Given the description of an element on the screen output the (x, y) to click on. 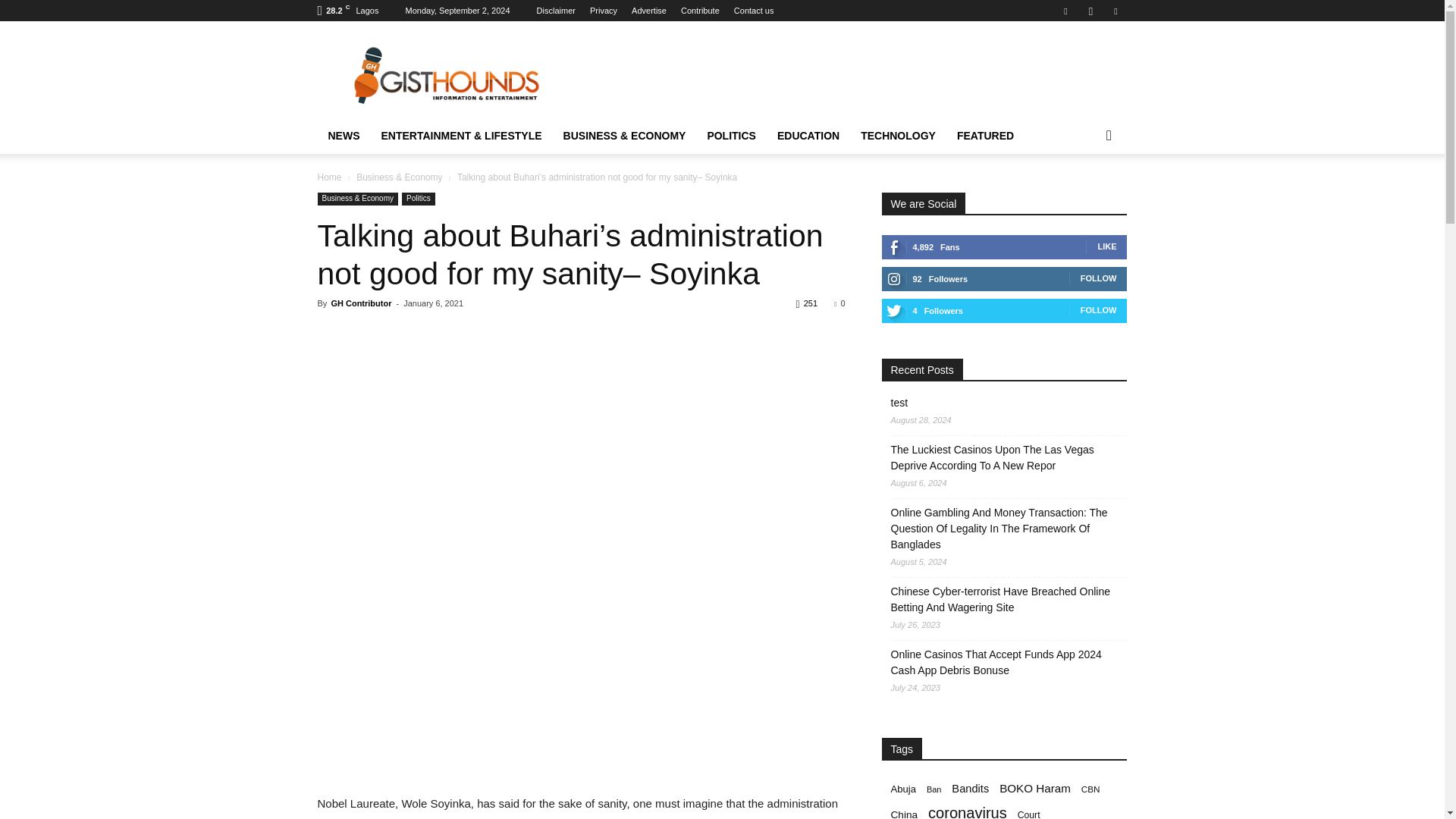
Instagram (1090, 10)
Disclaimer (556, 10)
Privacy (603, 10)
Advertise (648, 10)
POLITICS (731, 135)
Advertisement (850, 76)
EDUCATION (808, 135)
Contact us (753, 10)
Contribute (700, 10)
NEWS (343, 135)
